Given the description of an element on the screen output the (x, y) to click on. 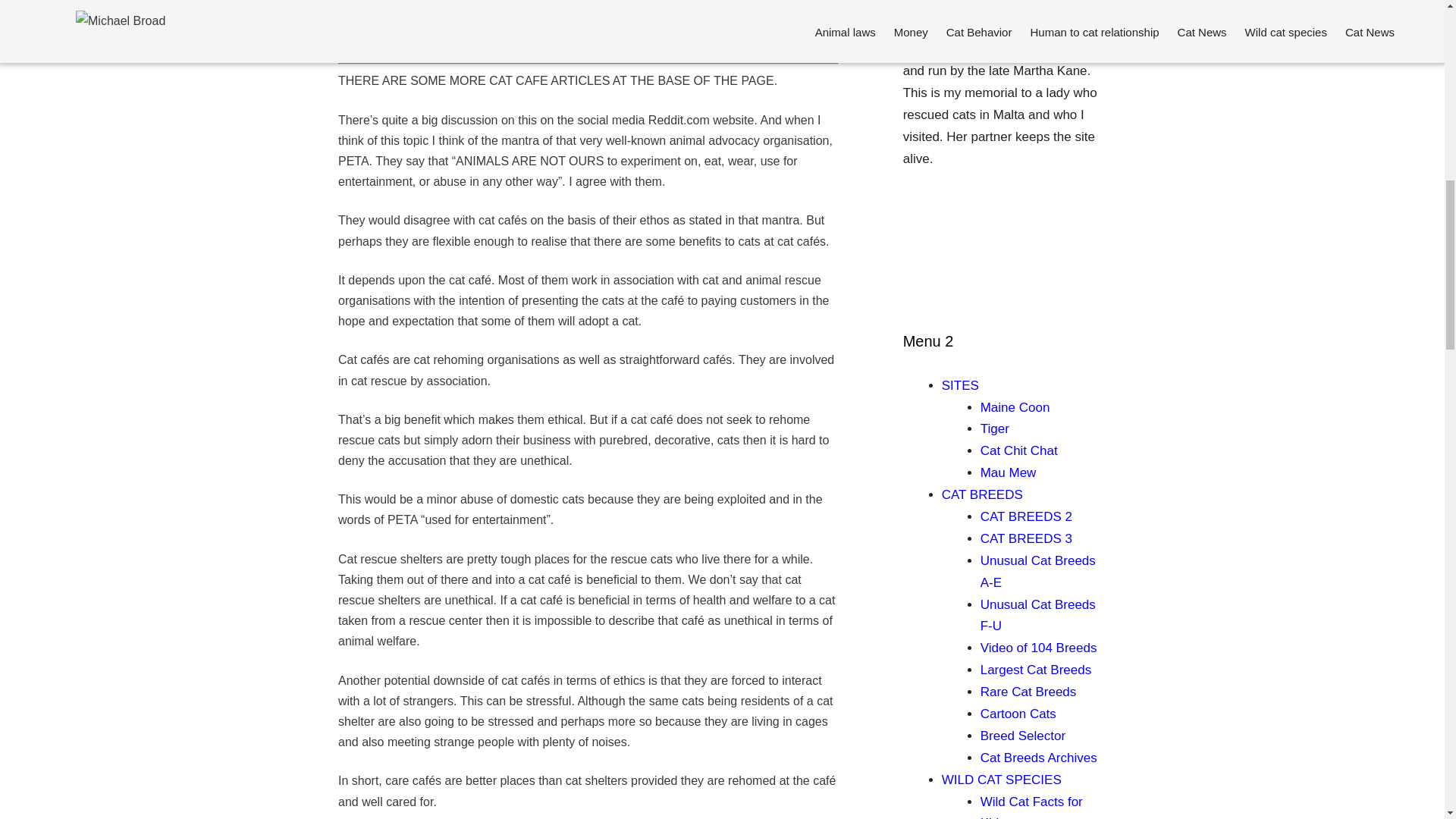
All the cat breeds fully discussed and illustrated (982, 494)
Full discussion on the rarest cat breeds (1028, 691)
Site dedicated to the tiger. Very extensive. (994, 428)
Website about all kinds of cat stories (1018, 450)
Click this link to go to the Kitty Appeal website (988, 37)
Selecting a breed. Try this. (1022, 735)
Cat breeds in a speedy video (1038, 647)
Site dedicated to the Maine Coon. Very extensive. (1014, 407)
Cat stuff spillover! (1007, 472)
Full discussion on the largest cat breeds (1034, 669)
